Given the description of an element on the screen output the (x, y) to click on. 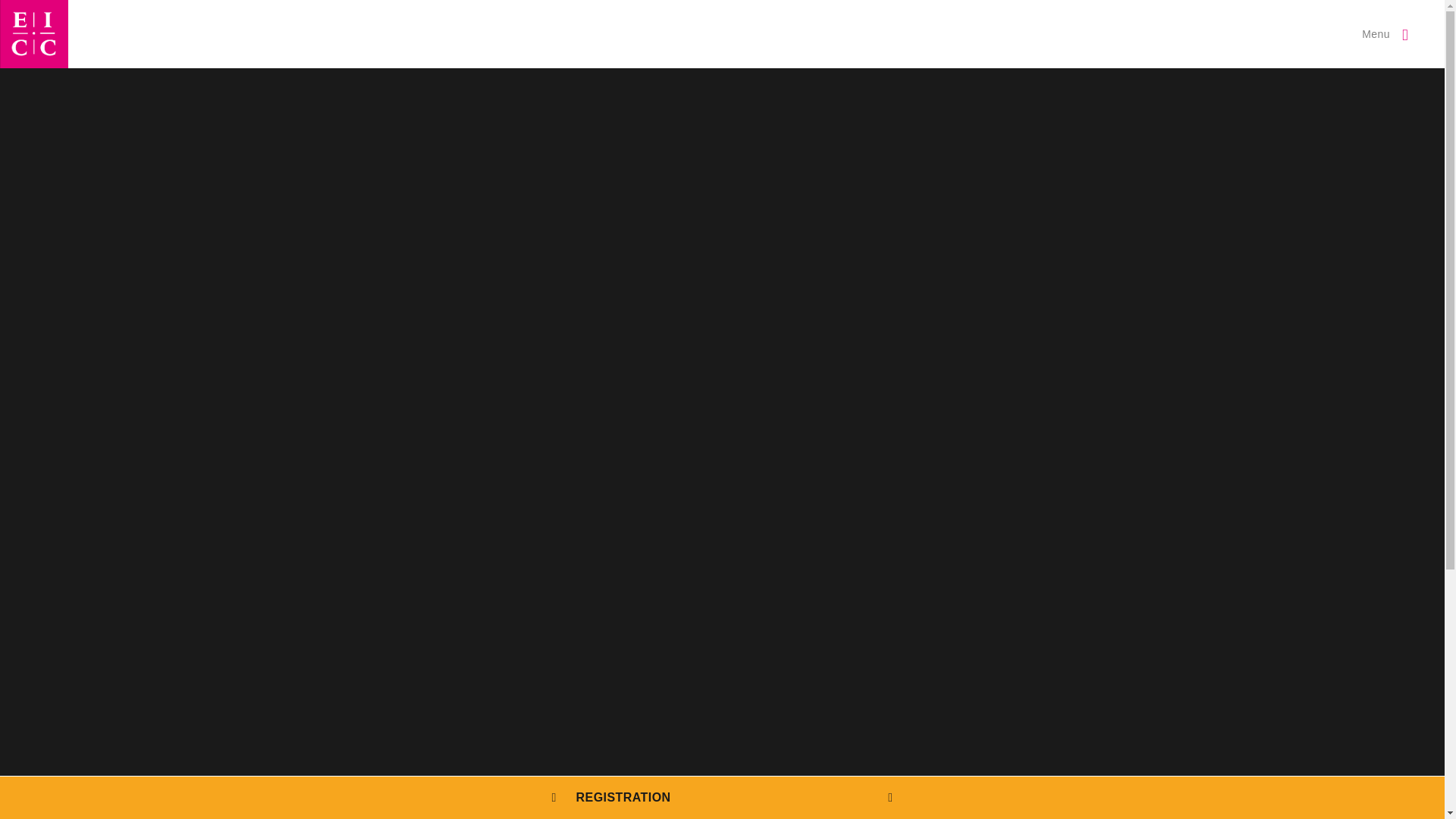
EICC Logo (34, 33)
Menu (1384, 33)
